Given the description of an element on the screen output the (x, y) to click on. 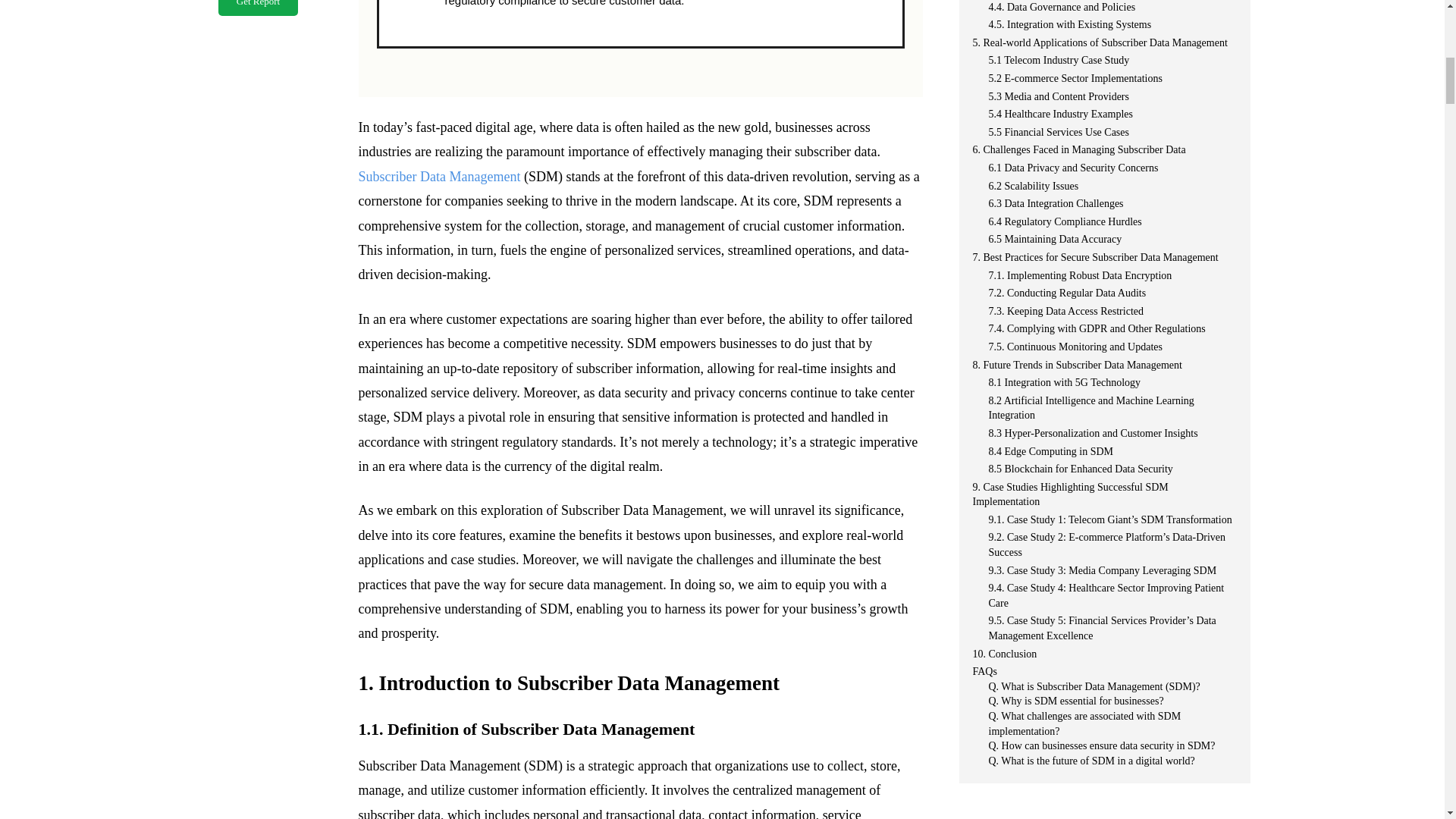
Get Report (258, 7)
Subscriber Data Management (438, 176)
Get Report (258, 7)
